Given the description of an element on the screen output the (x, y) to click on. 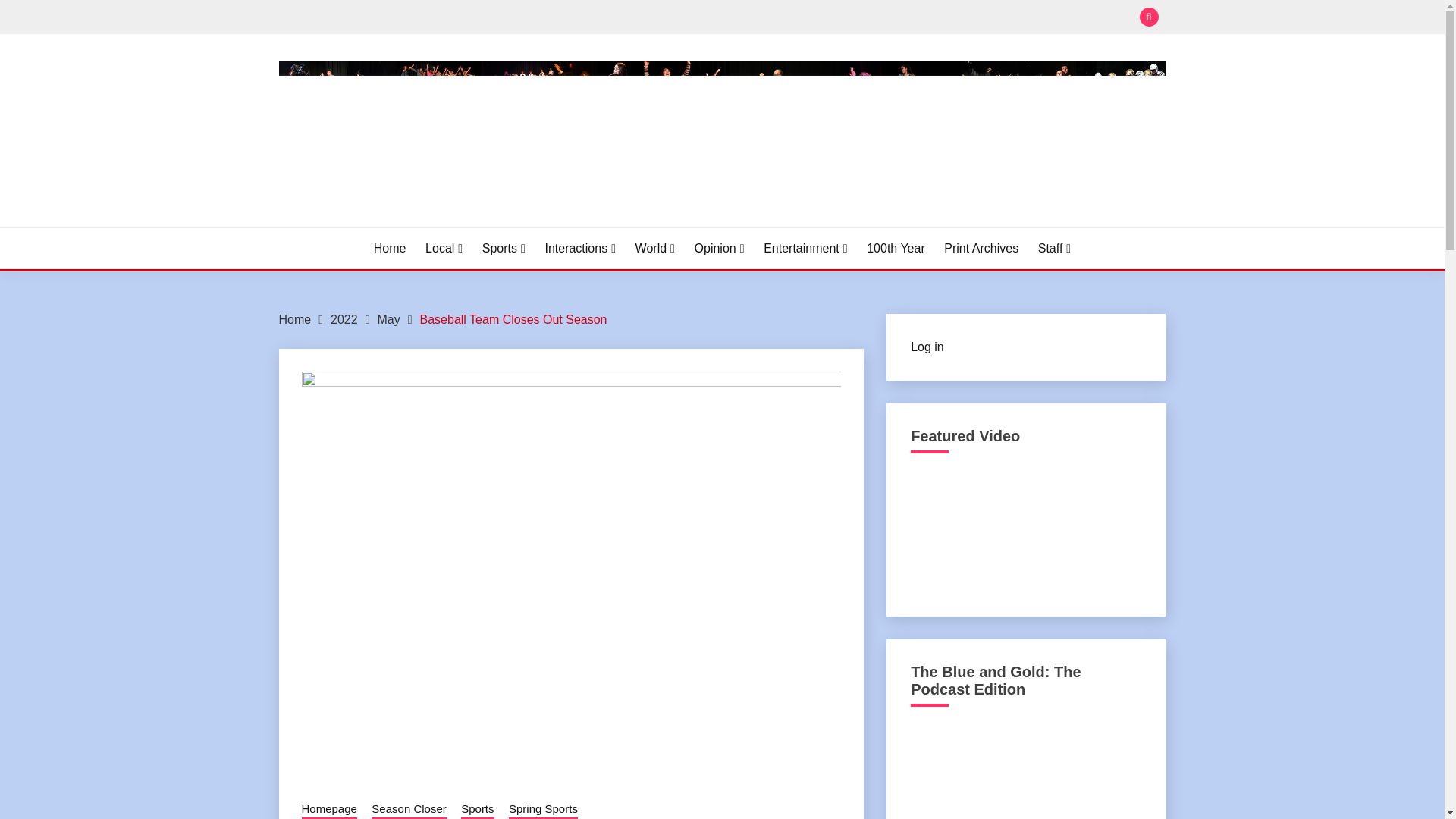
THE BLUE AND GOLD (426, 224)
May (387, 318)
Print Archives (980, 248)
Baseball Team Closes Out Season (513, 318)
Sports (503, 248)
Home (390, 248)
Local (444, 248)
Home (295, 318)
World (654, 248)
YouTube video player (1024, 530)
